Given the description of an element on the screen output the (x, y) to click on. 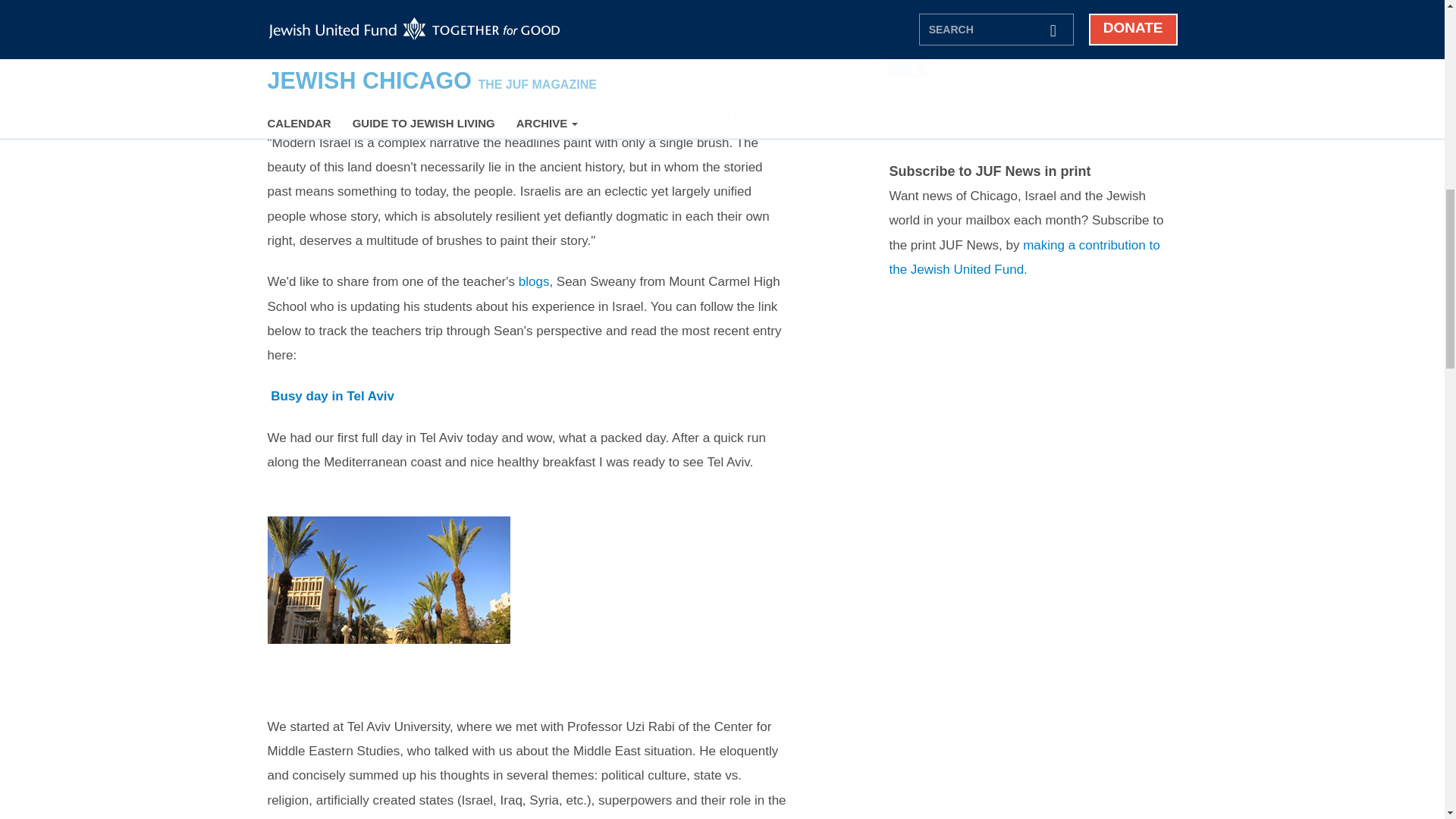
blogs (534, 281)
Busy day in Tel Aviv (332, 396)
teachersinisrael1 (387, 607)
